Given the description of an element on the screen output the (x, y) to click on. 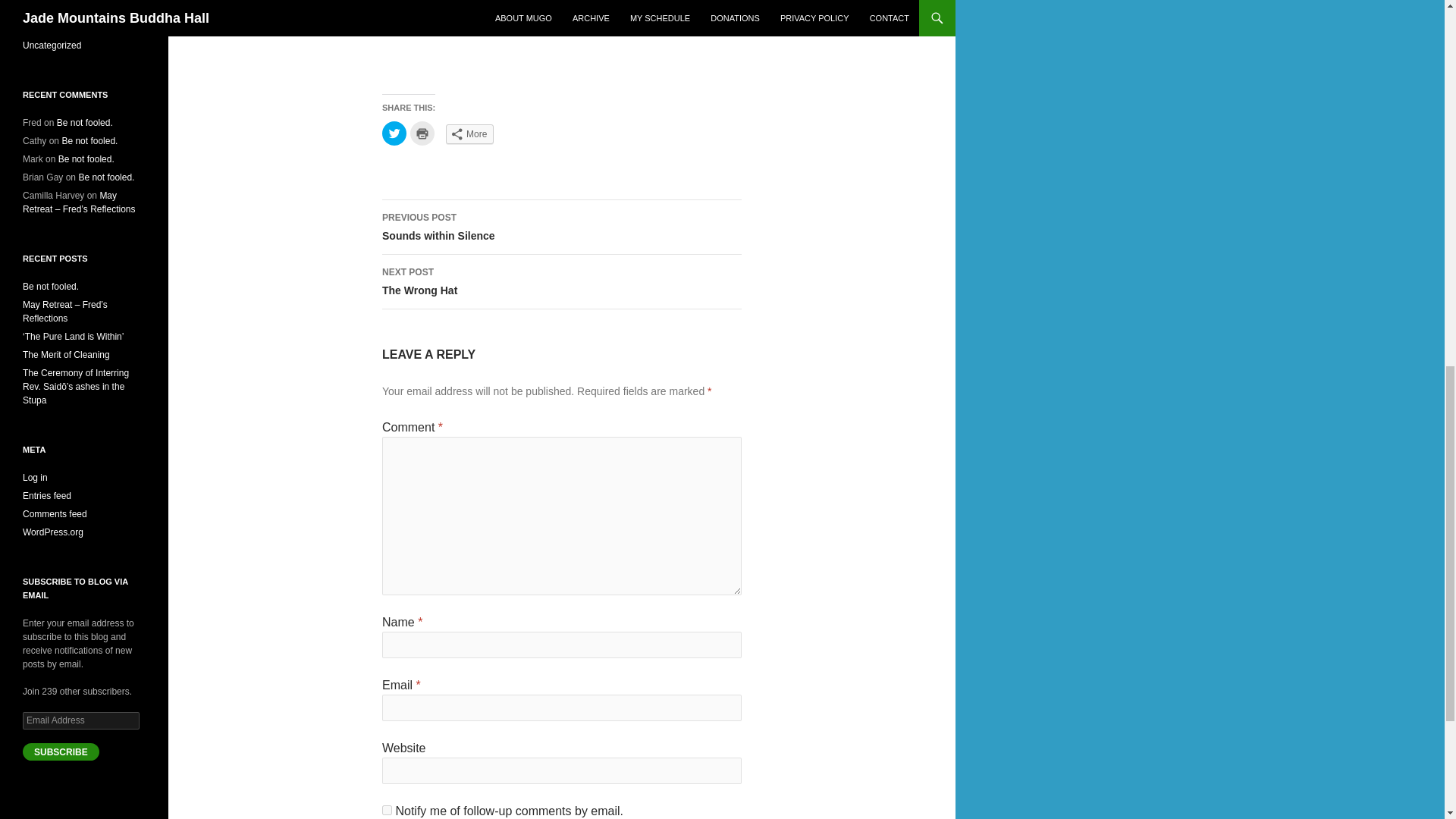
Click to print (561, 226)
More (561, 281)
subscribe (421, 133)
Click to share on Twitter (469, 134)
